Given the description of an element on the screen output the (x, y) to click on. 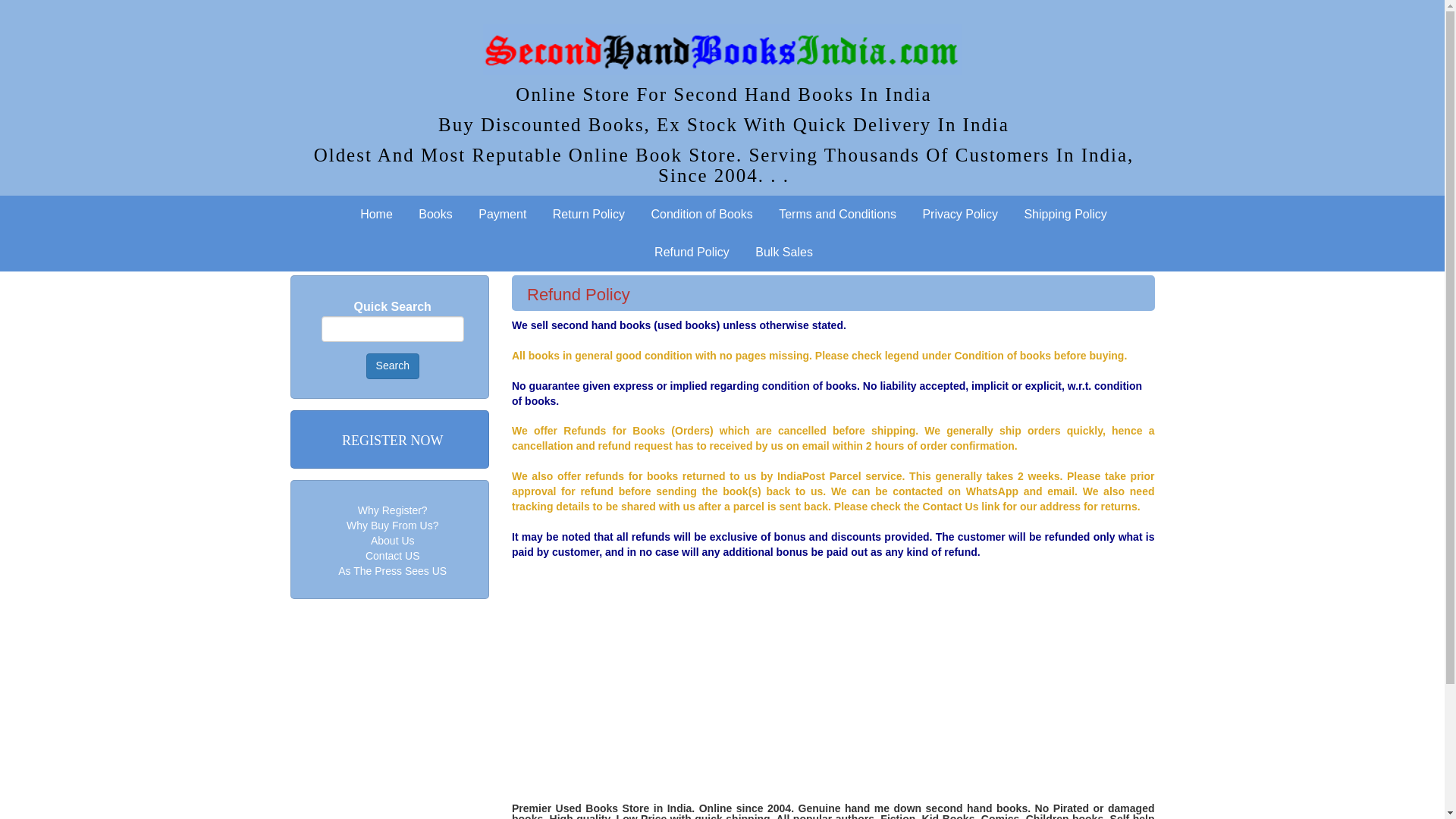
As The Press Sees US (391, 571)
Terms and Conditions (837, 214)
Refund Policy (692, 252)
Condition of Books (700, 214)
Bulk Sales (784, 252)
Books (435, 214)
Why Buy From Us? (392, 525)
REGISTER NOW (392, 441)
Search (392, 365)
Home (376, 214)
